Given the description of an element on the screen output the (x, y) to click on. 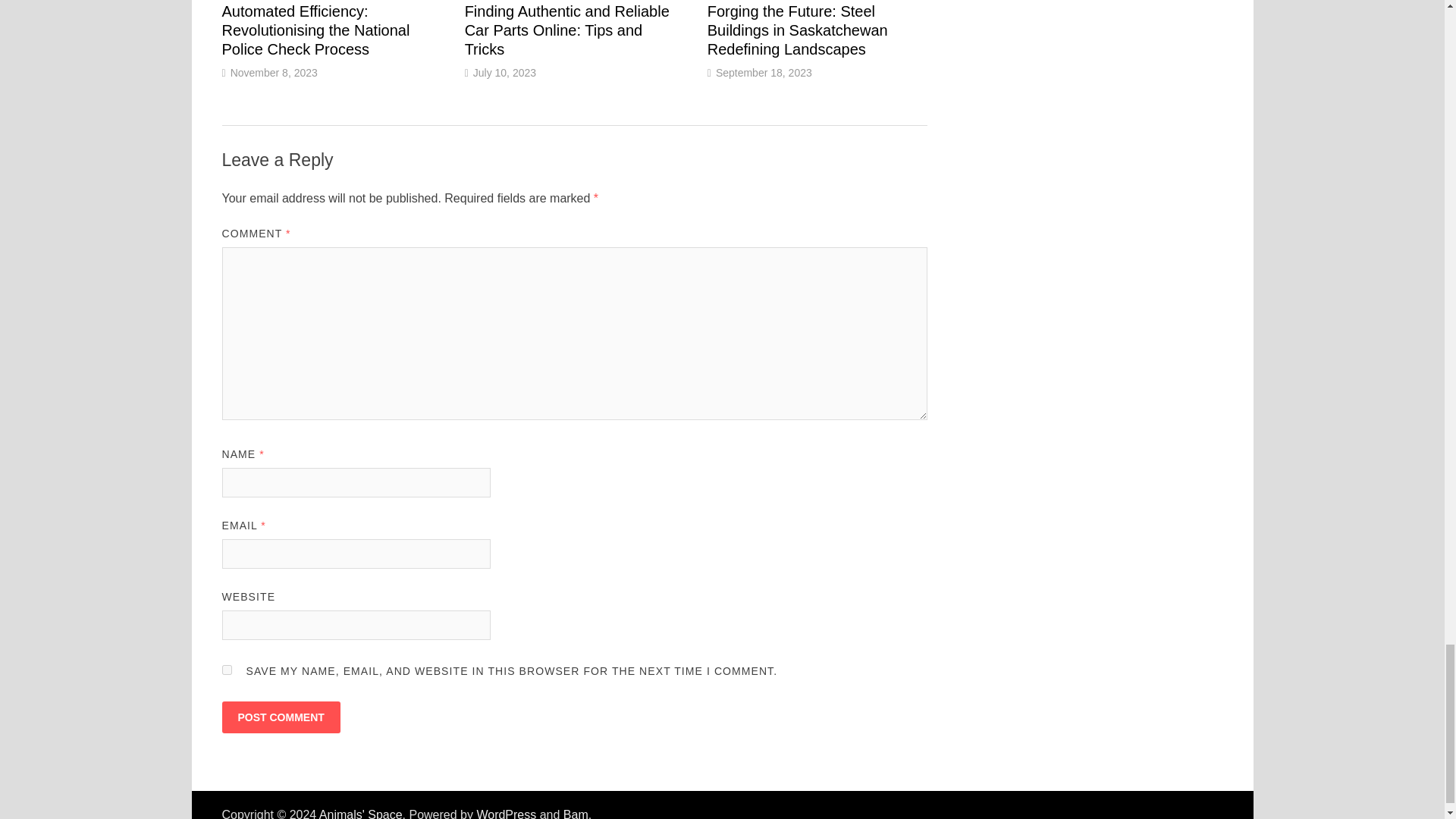
Post Comment (280, 717)
September 18, 2023 (764, 72)
July 10, 2023 (504, 72)
November 8, 2023 (273, 72)
Animals' Space (360, 813)
yes (226, 669)
Post Comment (280, 717)
